Given the description of an element on the screen output the (x, y) to click on. 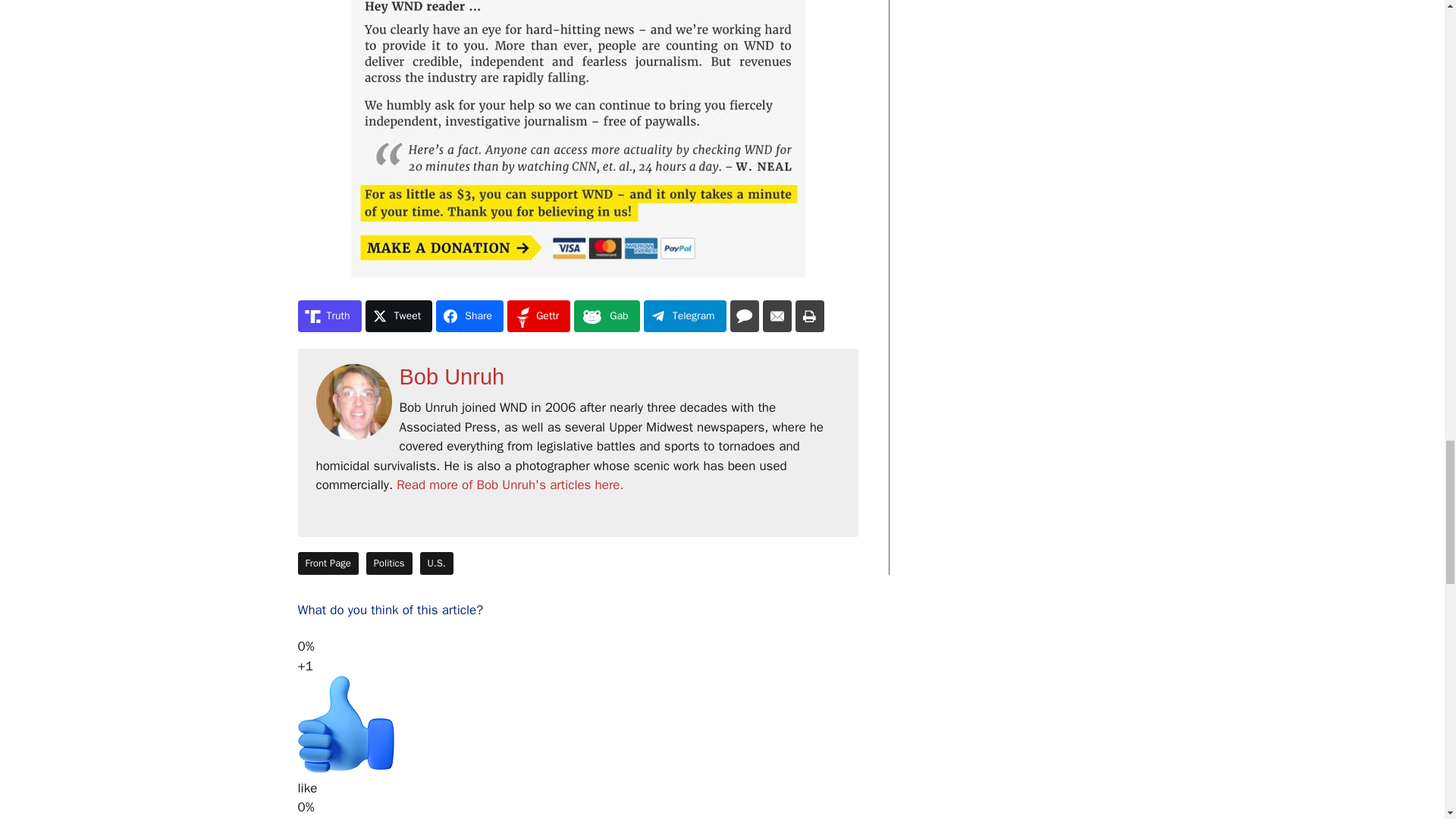
Share on Tweet (398, 316)
Share on Share (469, 316)
Share on Gettr (538, 316)
Share on Truth (329, 316)
